Given the description of an element on the screen output the (x, y) to click on. 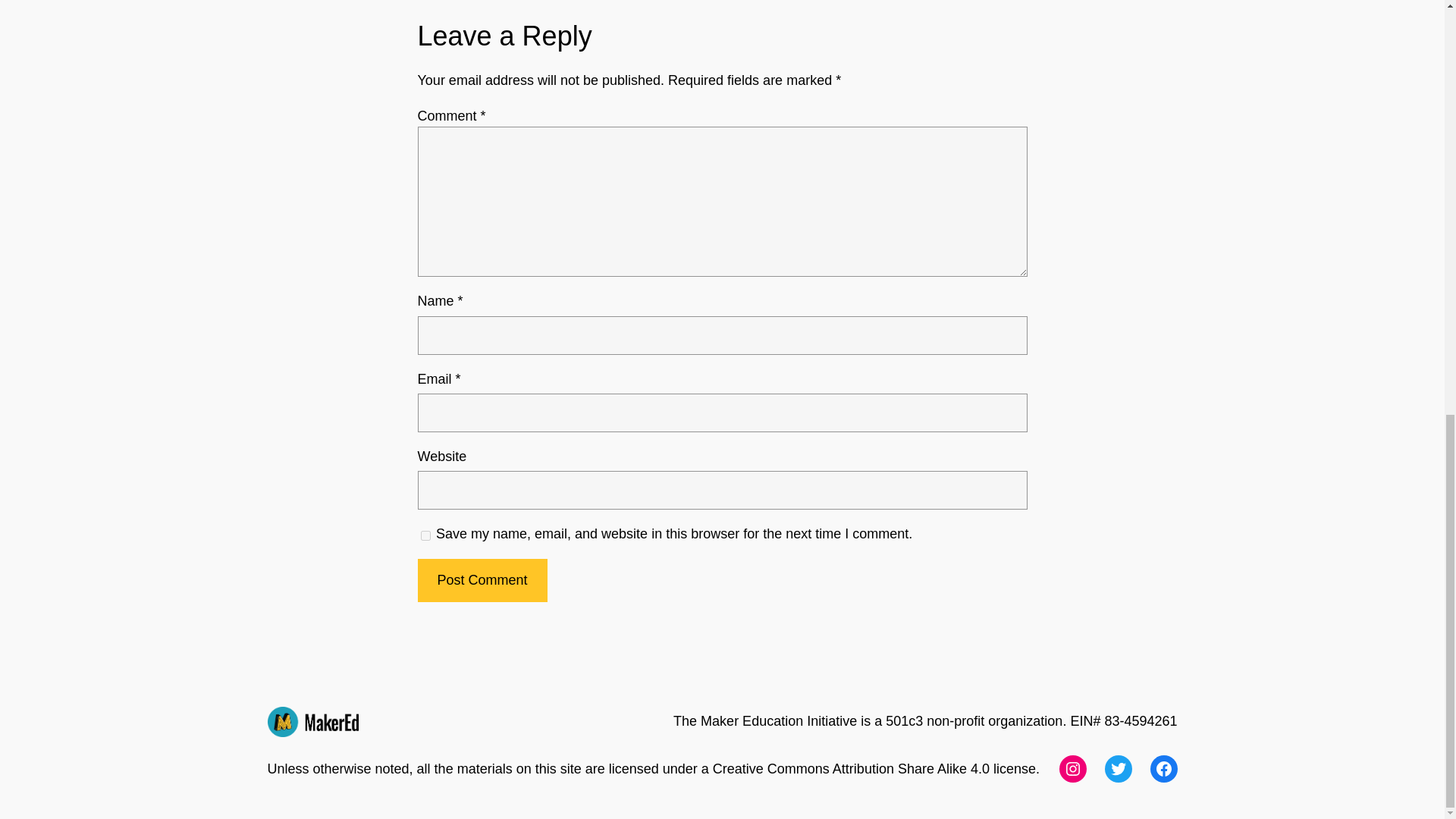
Post Comment (481, 579)
Instagram (1072, 768)
Facebook (1163, 768)
Twitter (1117, 768)
Post Comment (481, 579)
